Given the description of an element on the screen output the (x, y) to click on. 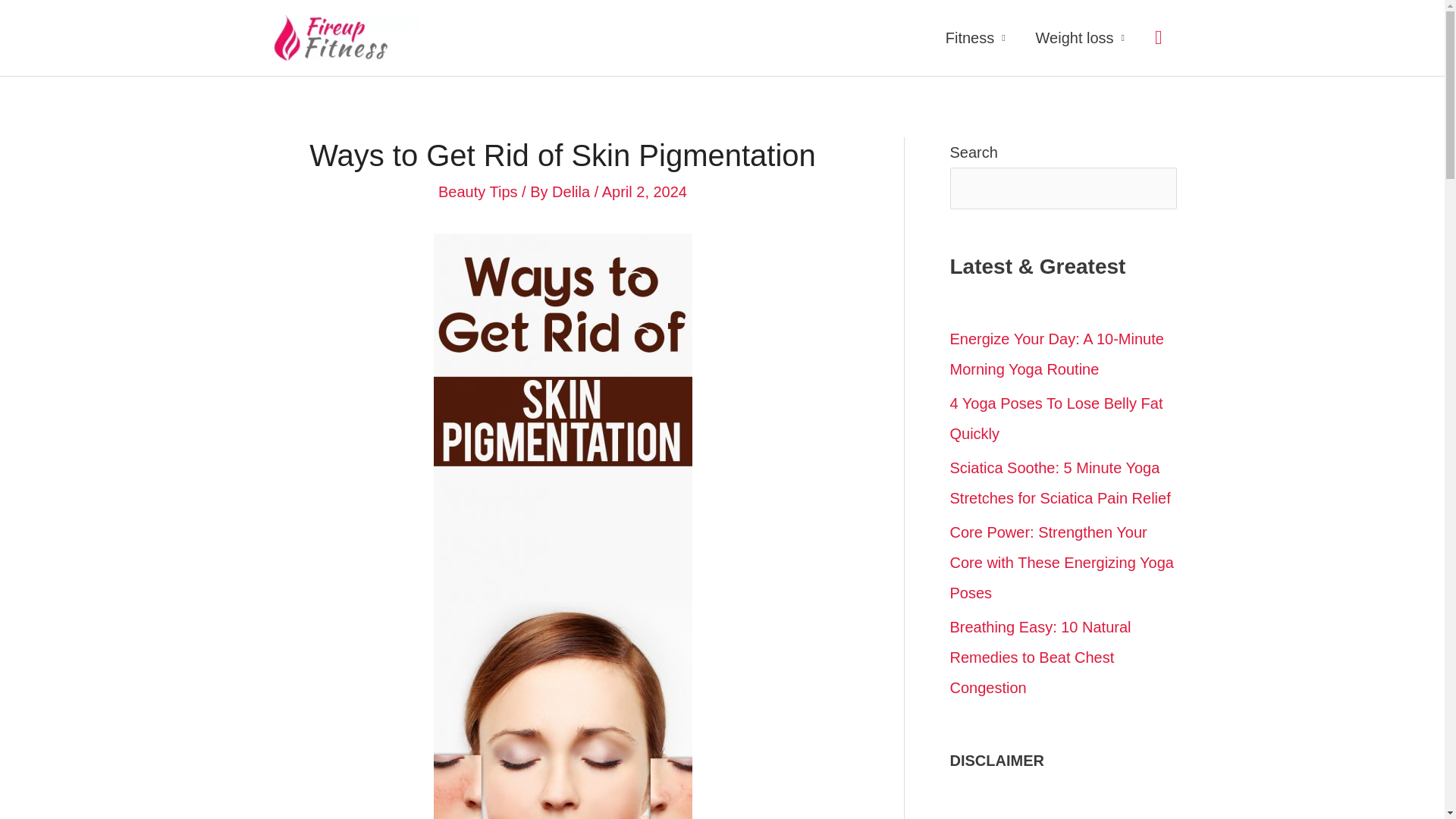
View all posts by Delila (572, 191)
4 Yoga Poses To Lose Belly Fat Quickly (1055, 418)
Breathing Easy: 10 Natural Remedies to Beat Chest Congestion (1040, 657)
Delila (572, 191)
Fitness (975, 38)
Weight loss (1080, 38)
Energize Your Day: A 10-Minute Morning Yoga Routine (1056, 353)
Beauty Tips (478, 191)
